Given the description of an element on the screen output the (x, y) to click on. 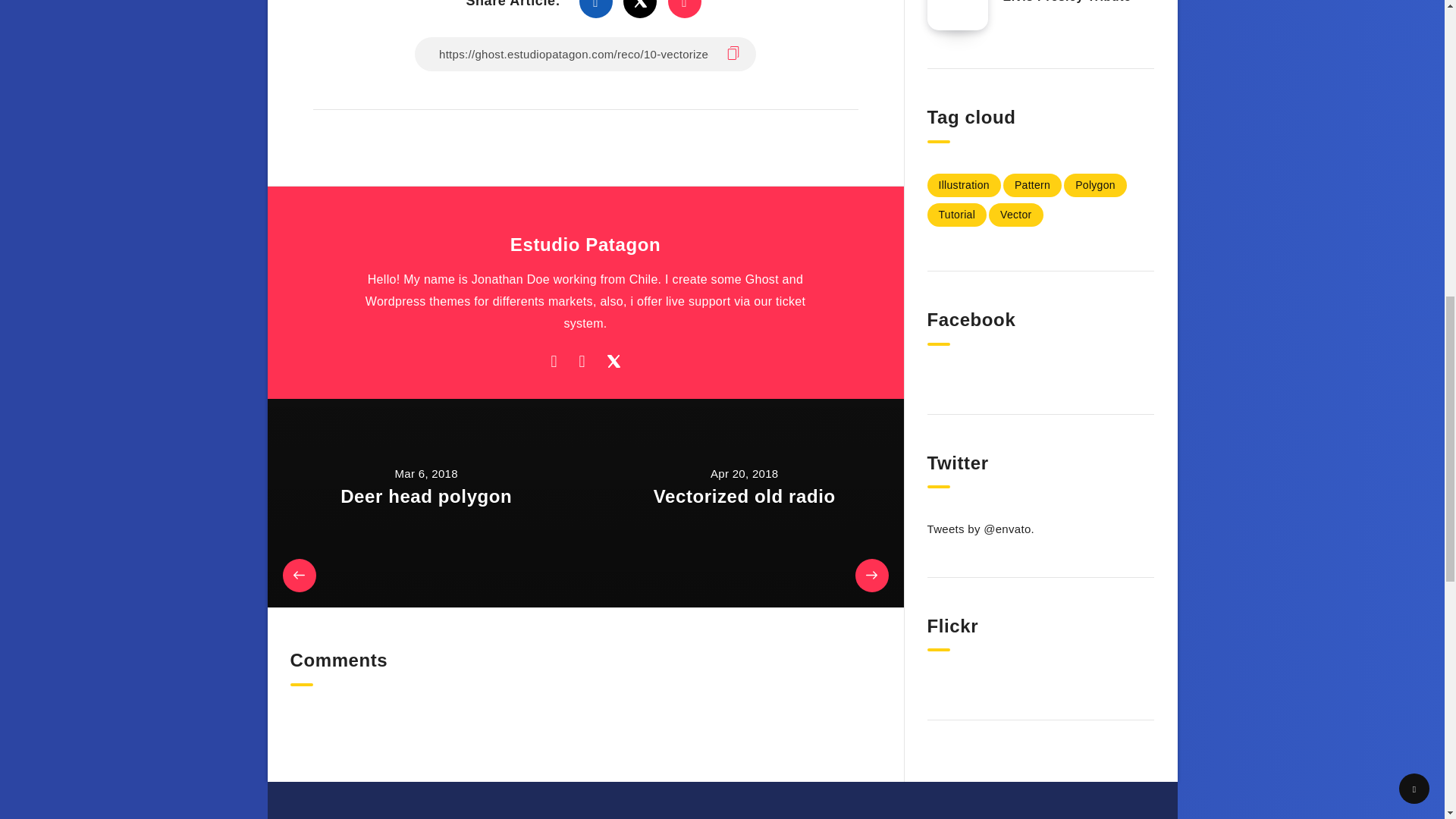
Estudio Patagon (586, 245)
Elvis Presley Tribute (1067, 3)
Illustration (963, 185)
